Given the description of an element on the screen output the (x, y) to click on. 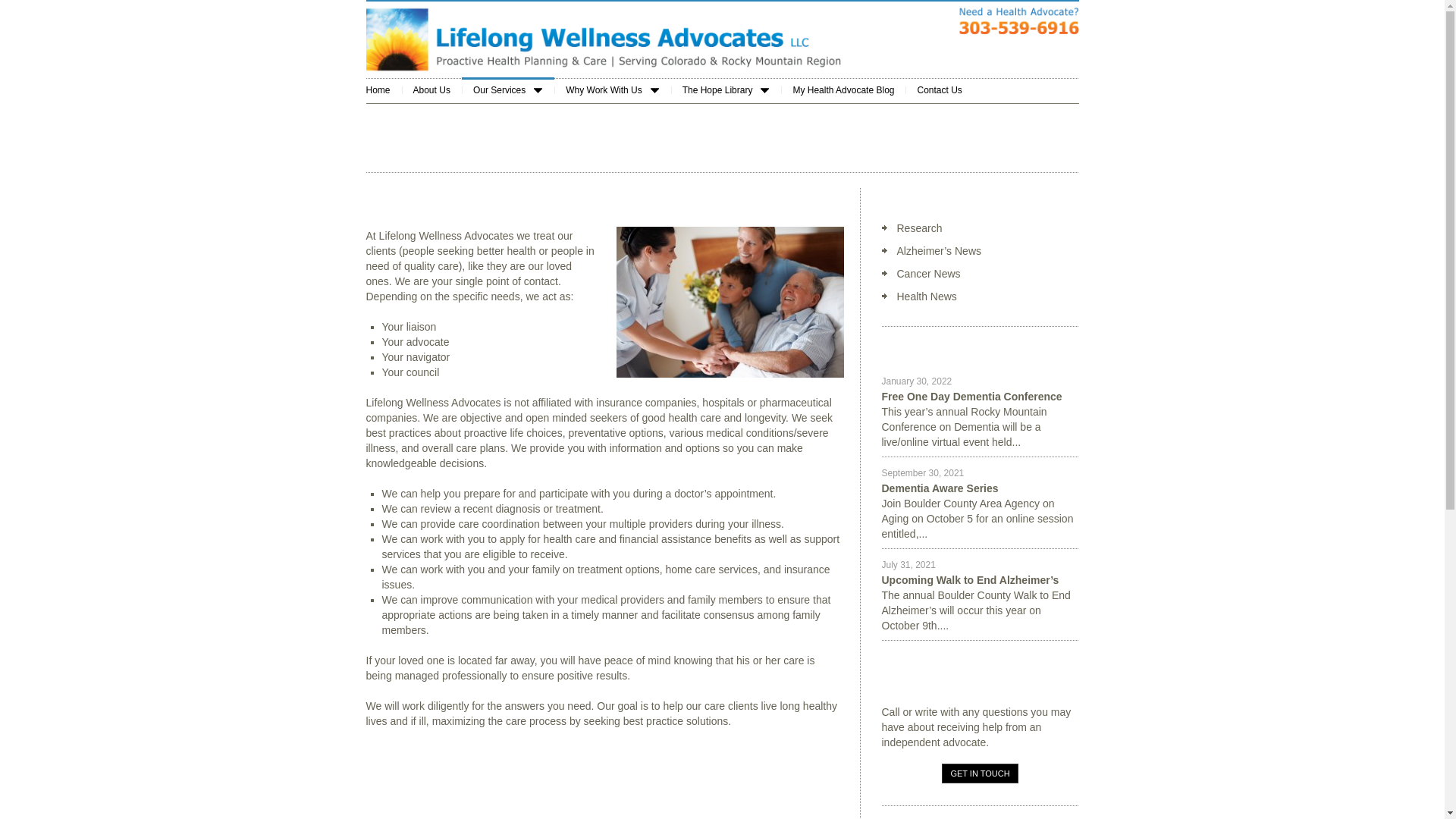
Research (919, 227)
The Hope Library (726, 89)
Doctor shaking hands with a recovered elderly man (729, 301)
Our Services (507, 89)
Why Work With Us (611, 89)
Permanent Link to Free One Day Dementia Conference (970, 396)
Home (383, 89)
About Us (431, 89)
Dementia Aware Series (938, 488)
My Health Advocate Blog (842, 89)
Permanent Link to Dementia Aware Series (938, 488)
Contact Us (938, 89)
GET IN TOUCH (979, 772)
Health News (926, 296)
Cancer News (927, 273)
